Given the description of an element on the screen output the (x, y) to click on. 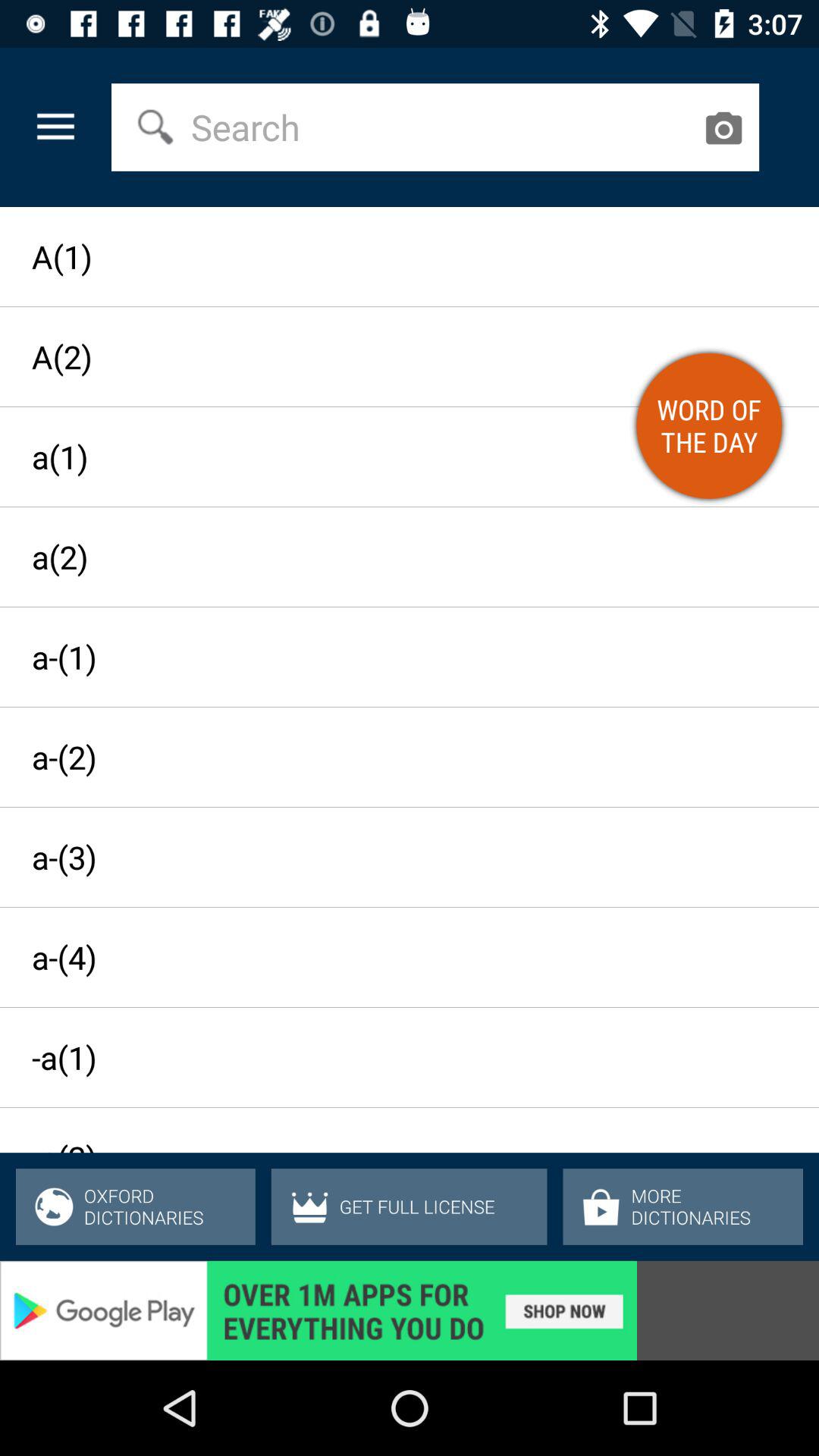
search by photo (723, 127)
